Given the description of an element on the screen output the (x, y) to click on. 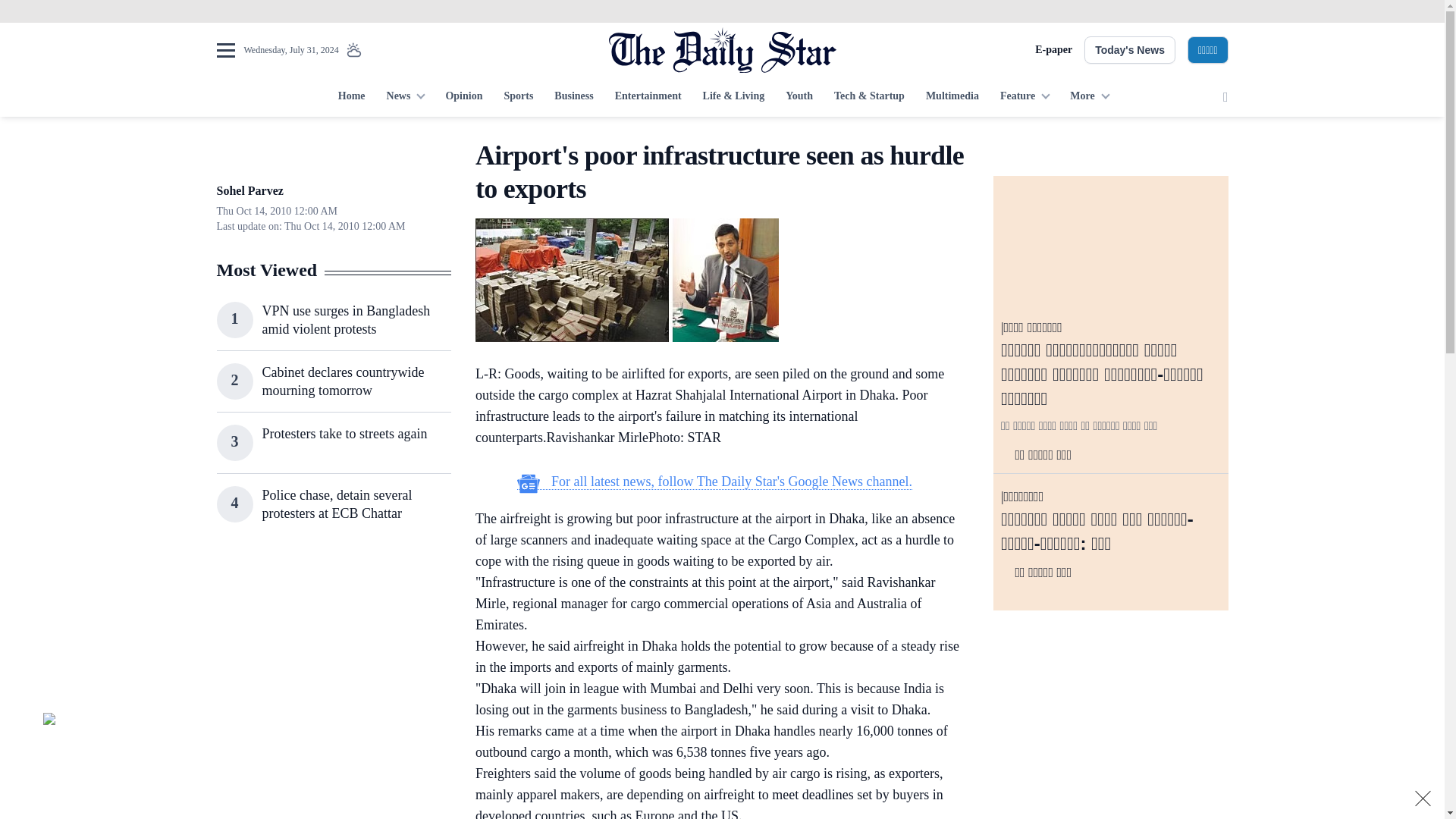
Sports (518, 96)
Opinion (463, 96)
E-paper (1053, 49)
News (405, 96)
Entertainment (647, 96)
Youth (799, 96)
Business (573, 96)
Multimedia (952, 96)
Home (351, 96)
Today's News (1129, 49)
Feature (1024, 96)
